Given the description of an element on the screen output the (x, y) to click on. 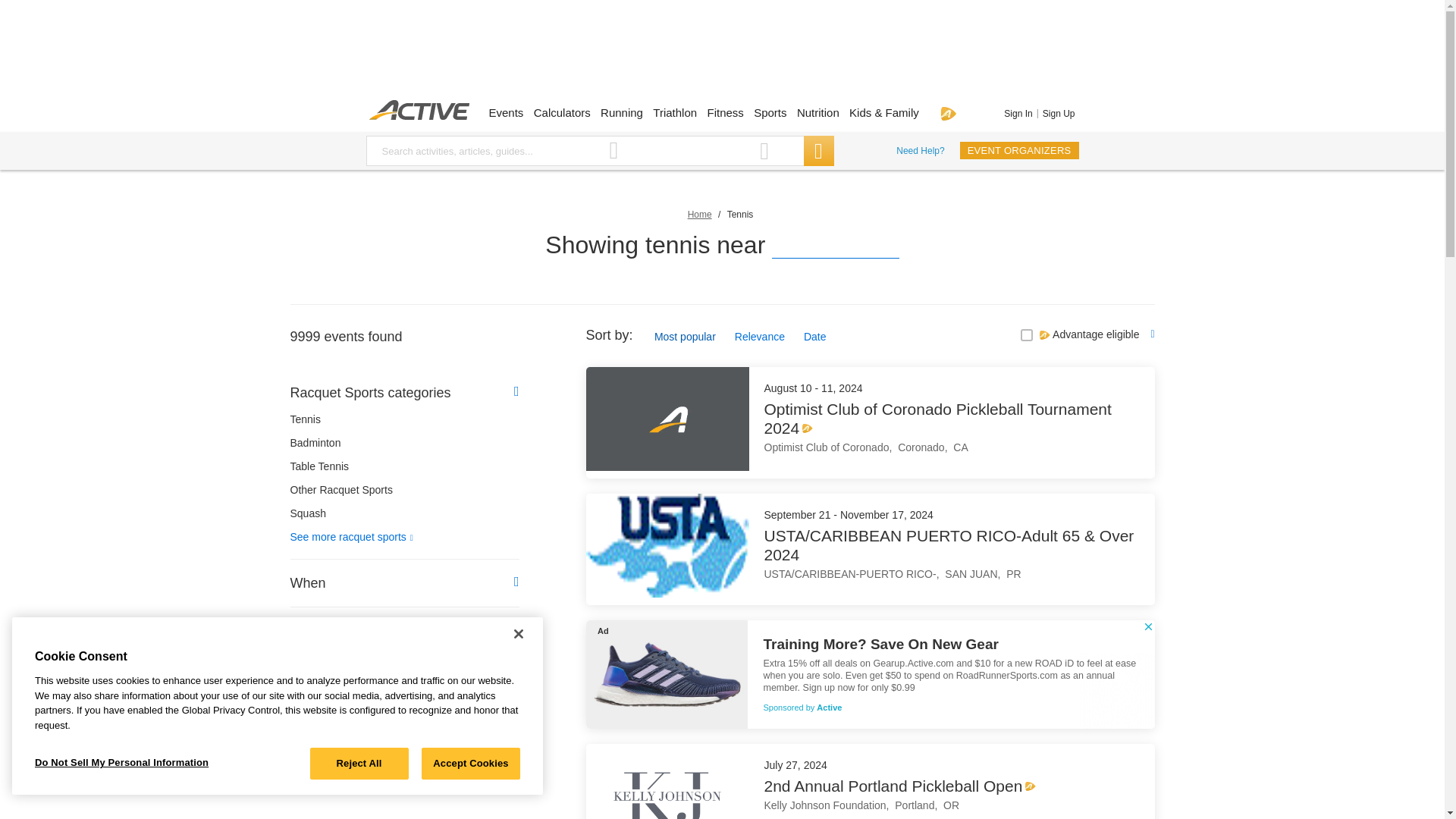
3rd party ad content (402, 810)
Go Premium (948, 113)
3rd party ad content (869, 673)
3rd party ad content (721, 53)
